Given the description of an element on the screen output the (x, y) to click on. 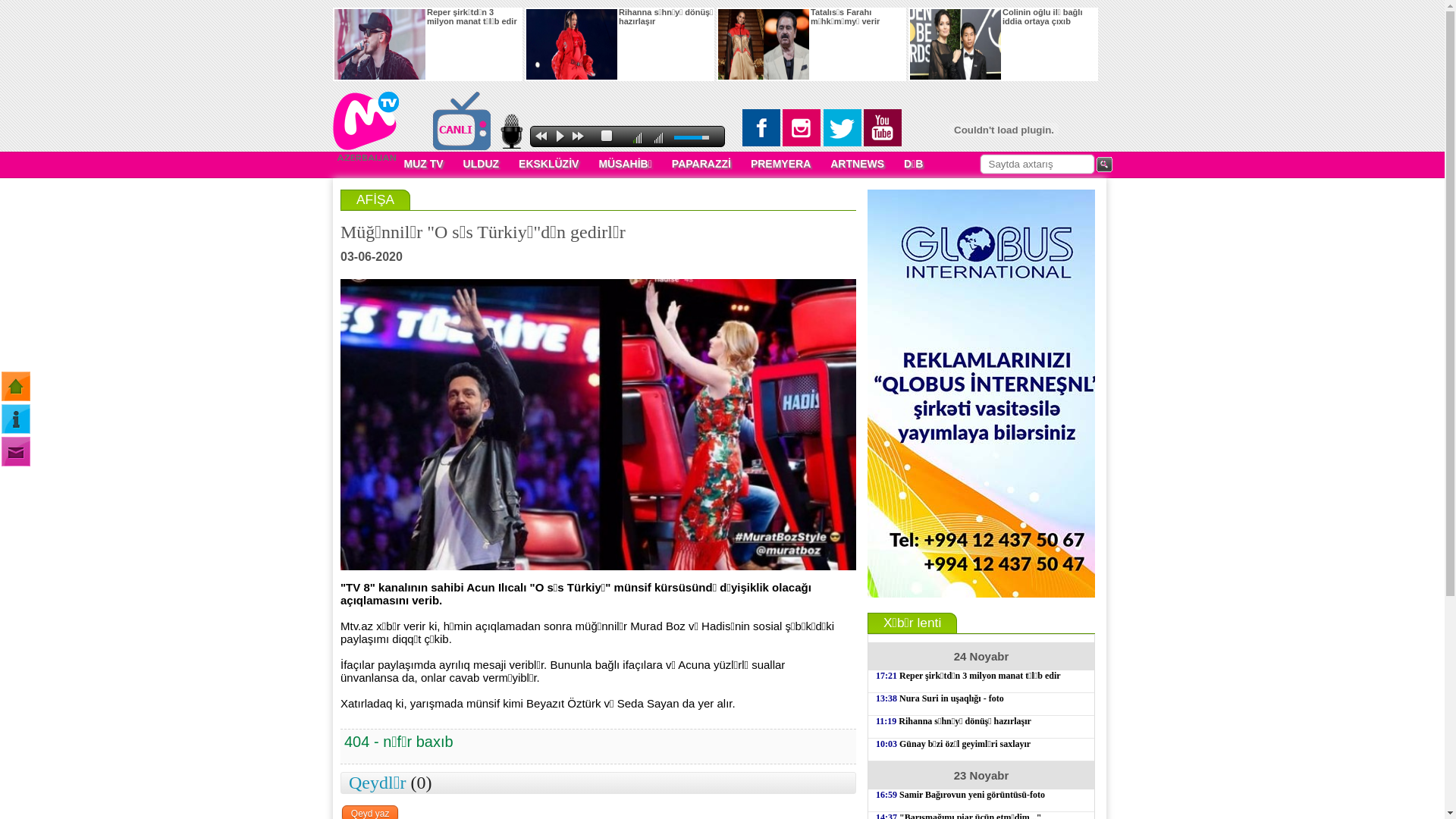
Facebook Element type: hover (761, 127)
PREMYERA Element type: text (782, 164)
ARTNEWS Element type: text (859, 164)
previous Element type: text (541, 135)
MUZ TV Element type: text (425, 164)
max volume Element type: text (660, 137)
stop Element type: text (606, 135)
instagram Element type: hover (801, 127)
play Element type: text (559, 133)
mute Element type: text (639, 137)
  Element type: text (1119, 163)
next Element type: text (577, 135)
Twitter Element type: hover (842, 127)
ULDUZ Element type: text (483, 164)
Youtube Element type: hover (882, 127)
